Given the description of an element on the screen output the (x, y) to click on. 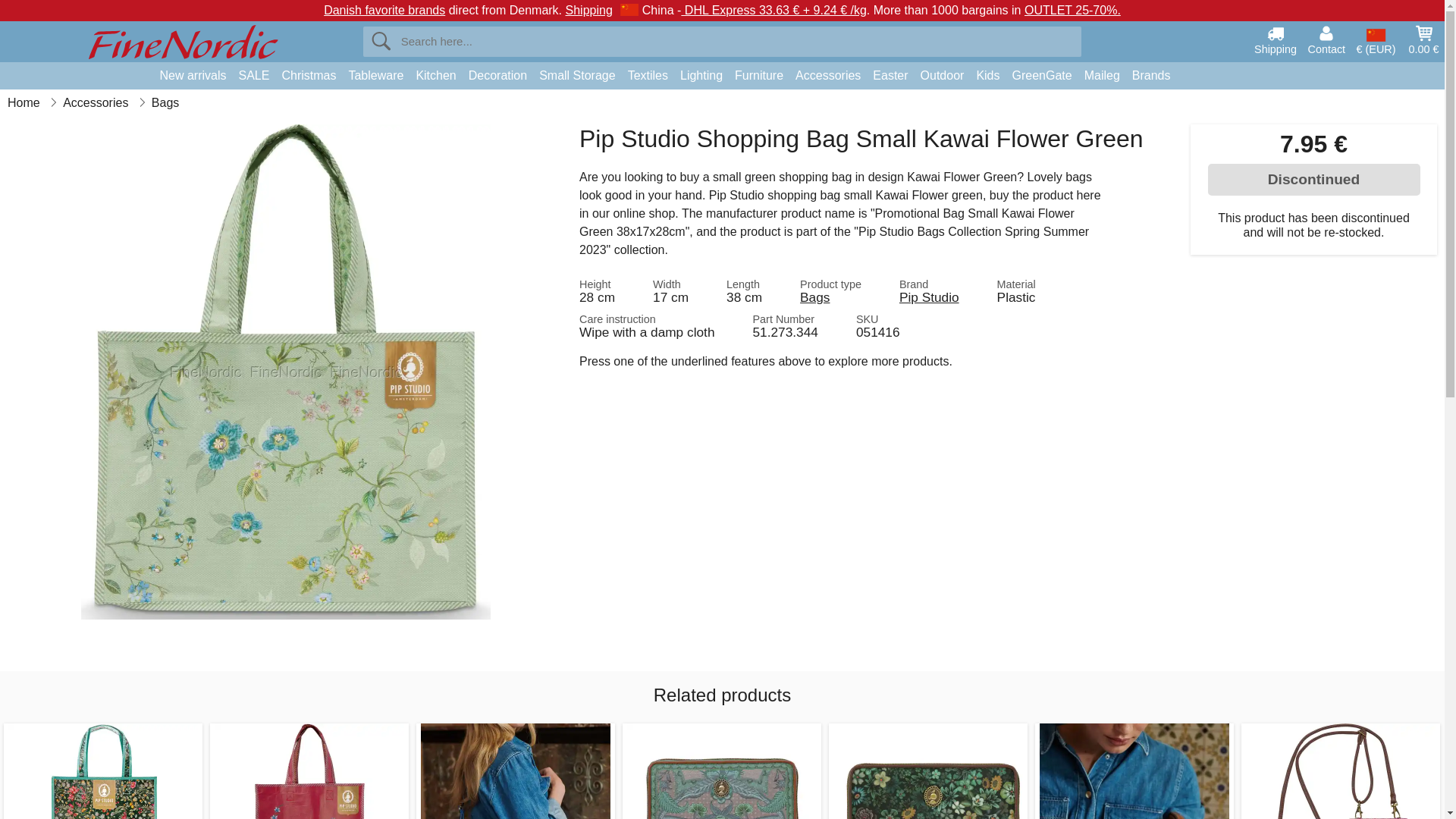
Shipping (1275, 39)
Danish favorite brands (384, 10)
New arrivals (191, 75)
Contact (1326, 39)
SALE (254, 75)
